Given the description of an element on the screen output the (x, y) to click on. 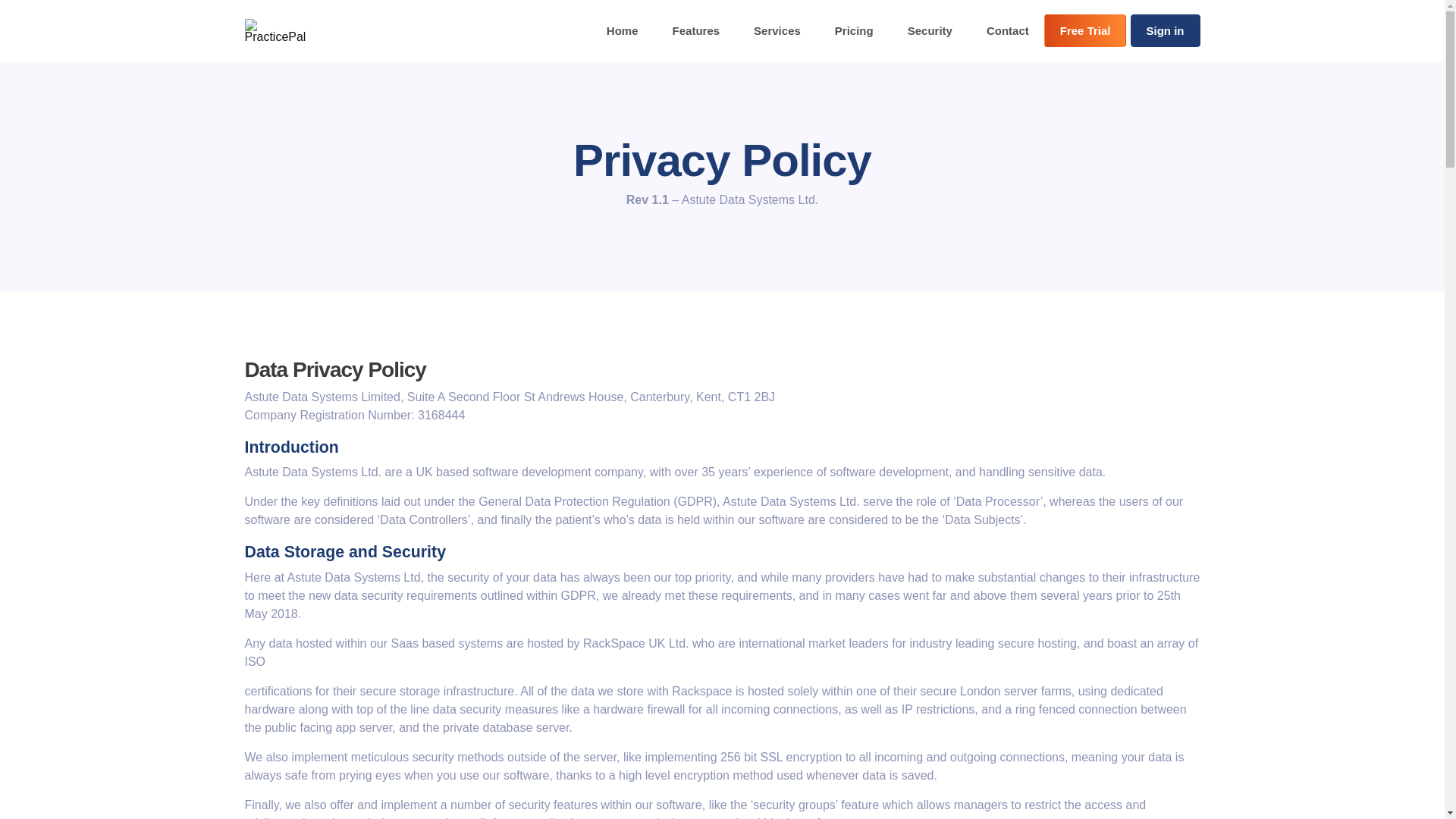
Services (776, 30)
Security (930, 30)
Home (622, 30)
Features (696, 30)
Free Trial (1085, 30)
Sign in (1165, 30)
Pricing (853, 30)
Contact (1007, 30)
